Given the description of an element on the screen output the (x, y) to click on. 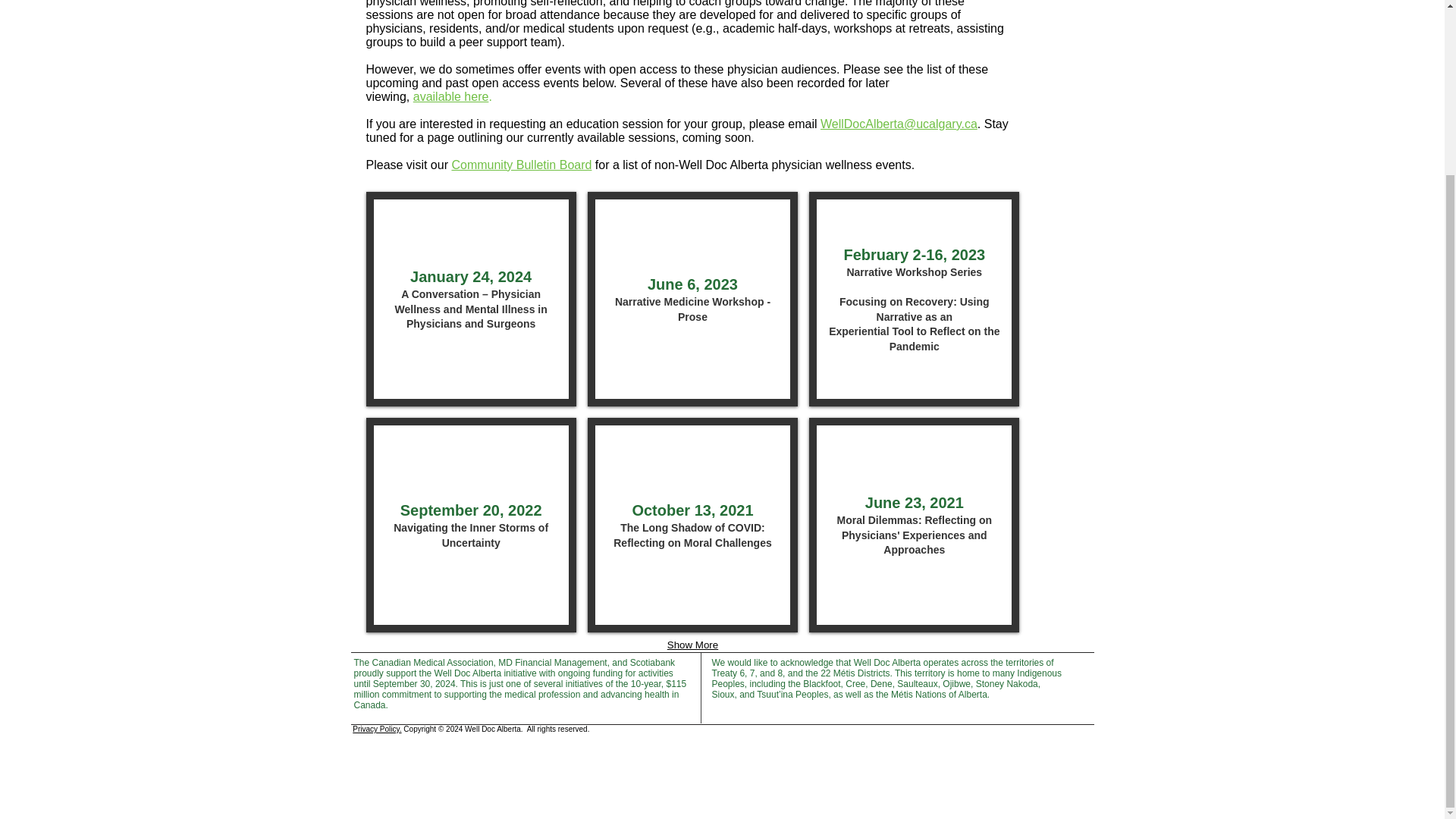
Show More (692, 645)
Privacy Policy.  (377, 728)
available here (692, 298)
Community Bulletin Board (451, 96)
